Given the description of an element on the screen output the (x, y) to click on. 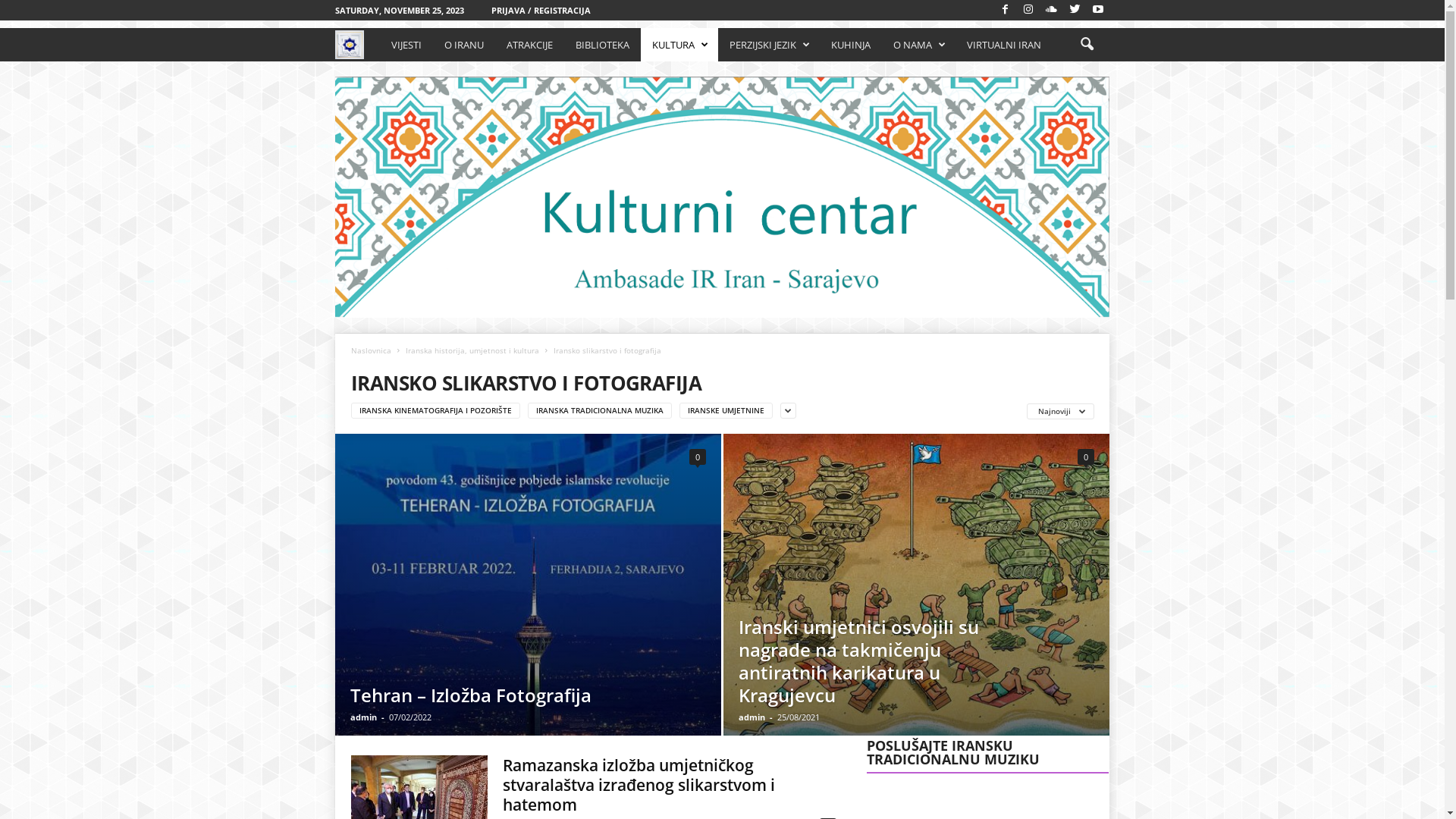
admin Element type: text (751, 716)
Youtube Element type: hover (1097, 10)
VIRTUALNI IRAN Element type: text (1003, 44)
O NAMA Element type: text (918, 44)
PRIJAVA / REGISTRACIJA Element type: text (540, 9)
IRANSKE UMJETNINE Element type: text (725, 410)
Twitter Element type: hover (1074, 10)
O IRANU Element type: text (464, 44)
admin Element type: text (363, 716)
IRANSKA TRADICIONALNA MUZIKA Element type: text (599, 410)
ATRAKCIJE Element type: text (529, 44)
Iranska historija, umjetnost i kultura Element type: text (472, 350)
PERZIJSKI JEZIK Element type: text (768, 44)
0 Element type: text (1085, 456)
Naslovnica Element type: text (371, 350)
Facebook Element type: hover (1005, 10)
KUHINJA Element type: text (850, 44)
KULTURA Element type: text (679, 44)
Soundcloud Element type: hover (1051, 10)
VIJESTI Element type: text (406, 44)
Iranski kulturni centar Sarajevo Element type: text (357, 44)
BIBLIOTEKA Element type: text (602, 44)
0 Element type: text (697, 456)
Instagram Element type: hover (1028, 10)
